Given the description of an element on the screen output the (x, y) to click on. 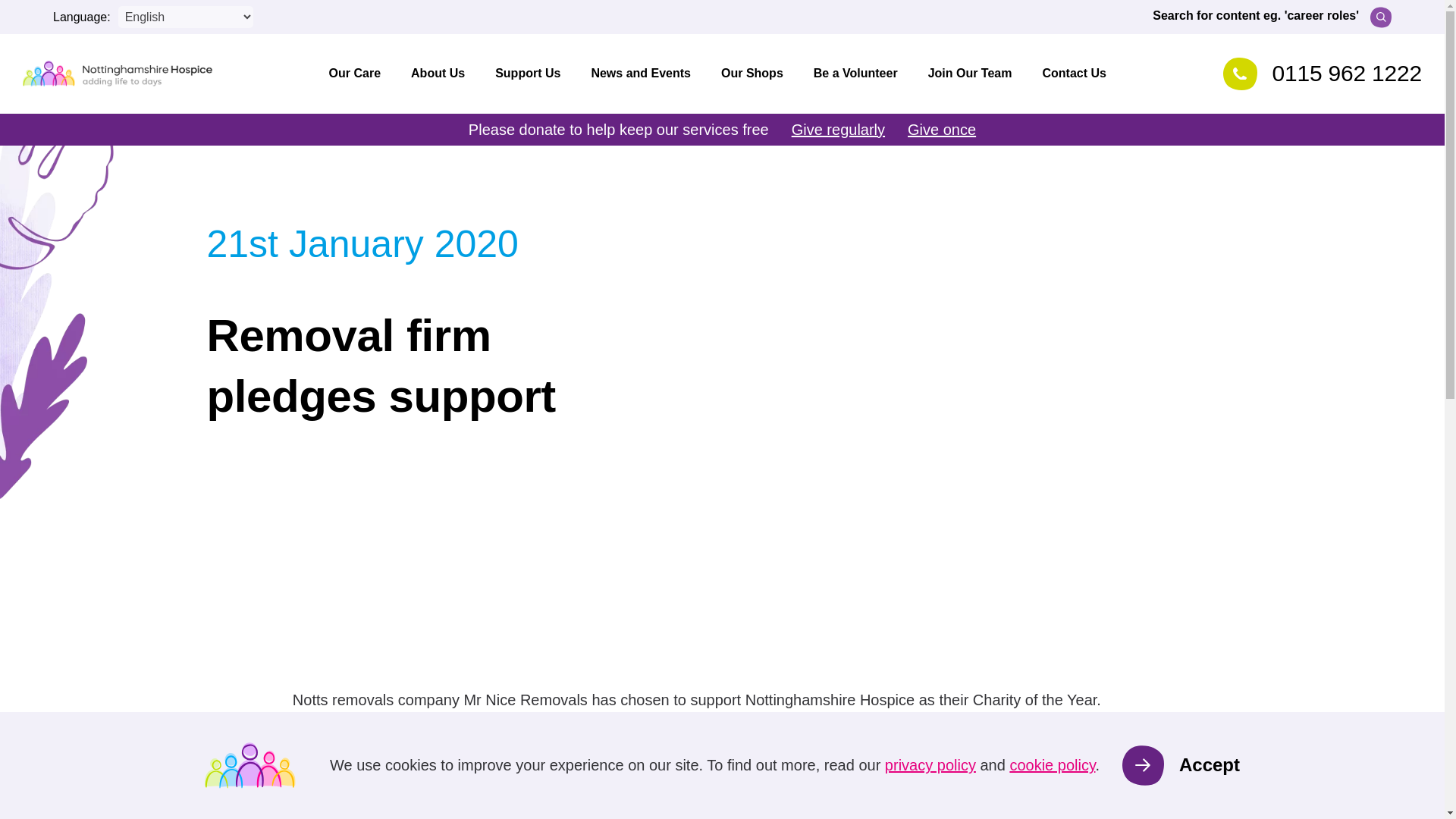
About Us (438, 73)
Be a Volunteer (854, 73)
Support Us (527, 73)
News and Events (640, 73)
Search for content eg. 'career roles' (1272, 16)
Our Care (355, 73)
Our Shops (751, 73)
